Given the description of an element on the screen output the (x, y) to click on. 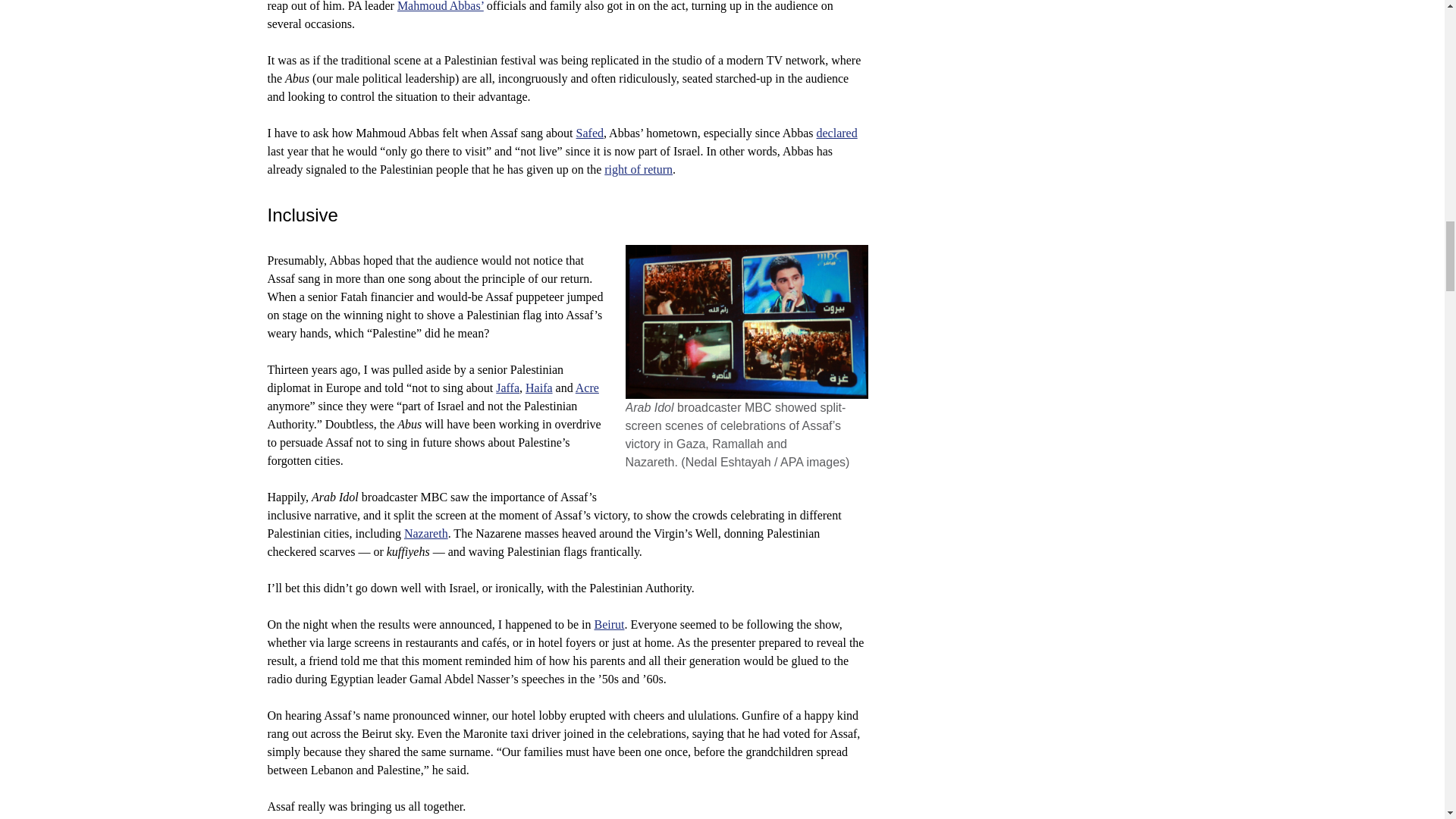
Acre (586, 387)
Safed (590, 132)
Nazareth (426, 533)
right of return (638, 169)
Jaffa (507, 387)
declared (836, 132)
Haifa (539, 387)
Beirut (609, 624)
